Given the description of an element on the screen output the (x, y) to click on. 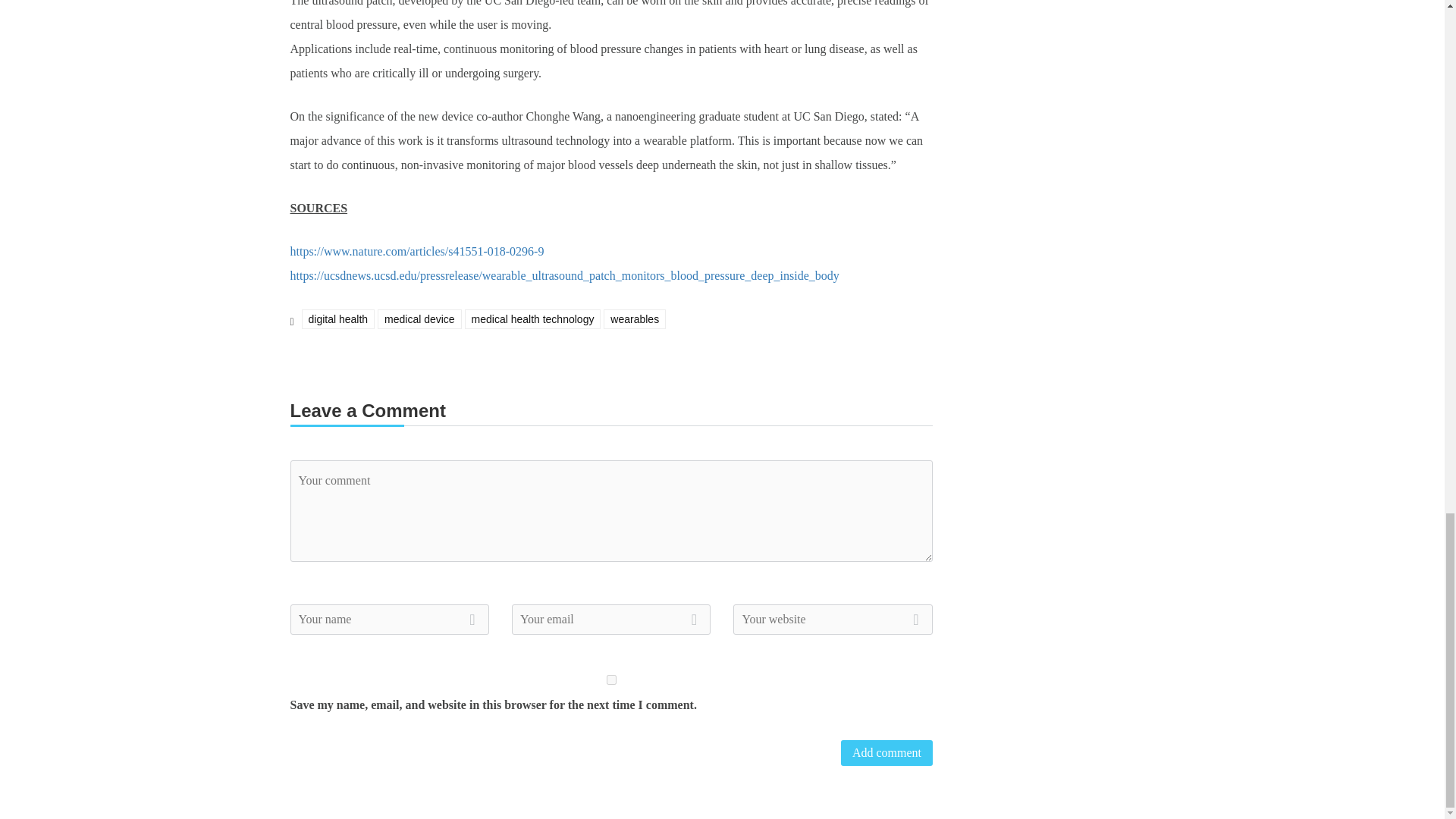
wearables (634, 319)
medical device (419, 319)
yes (611, 679)
Add comment (887, 752)
digital health (338, 319)
Add comment (887, 752)
medical health technology (532, 319)
